Given the description of an element on the screen output the (x, y) to click on. 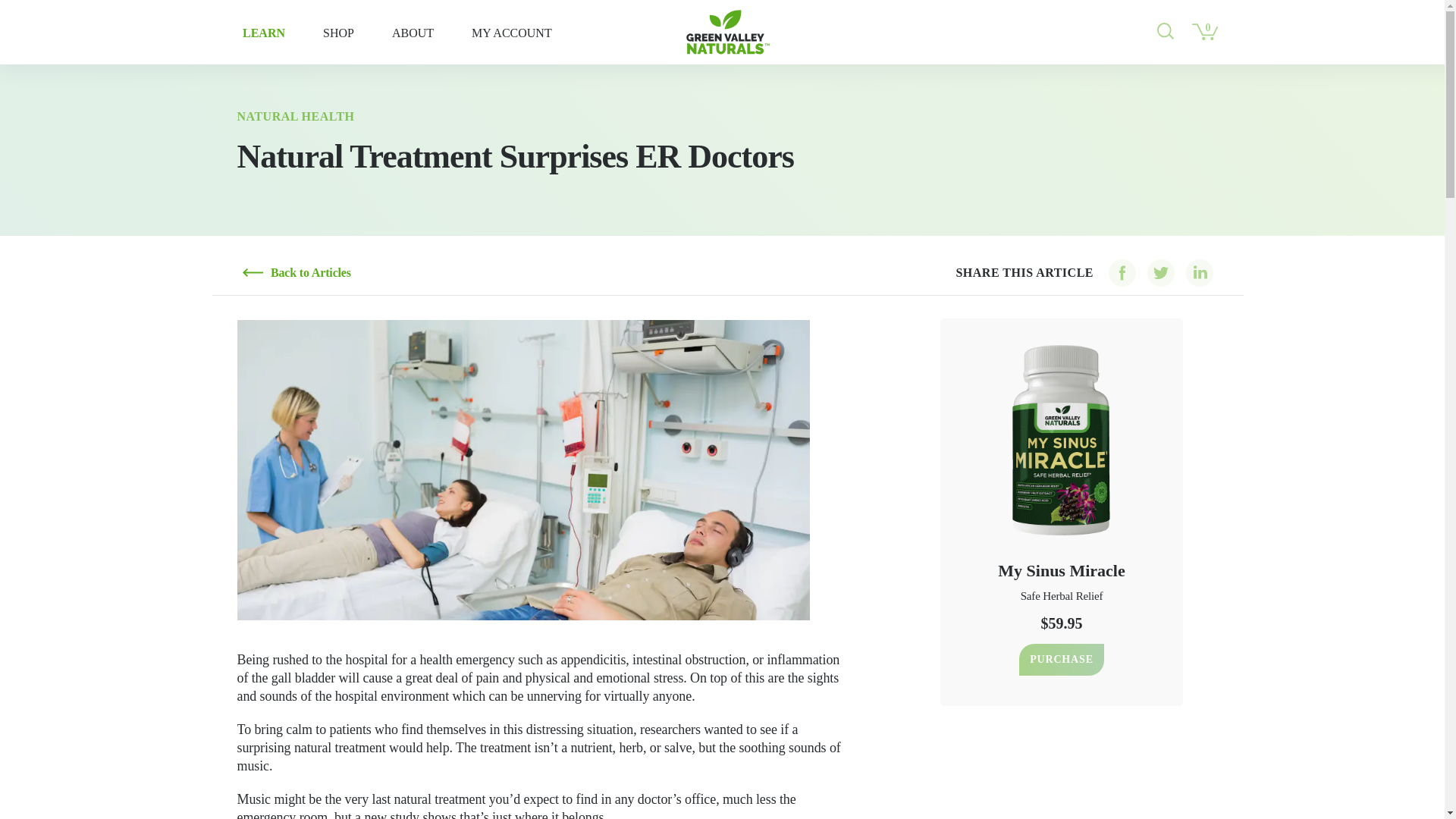
LEARN (264, 31)
ABOUT (412, 31)
PURCHASE (1060, 659)
MY ACCOUNT (511, 31)
Back to Articles (296, 273)
NATURAL HEALTH (294, 115)
PURCHASE (1061, 659)
My Sinus Miracle (1060, 567)
SHOP (338, 31)
0 (1205, 30)
